Given the description of an element on the screen output the (x, y) to click on. 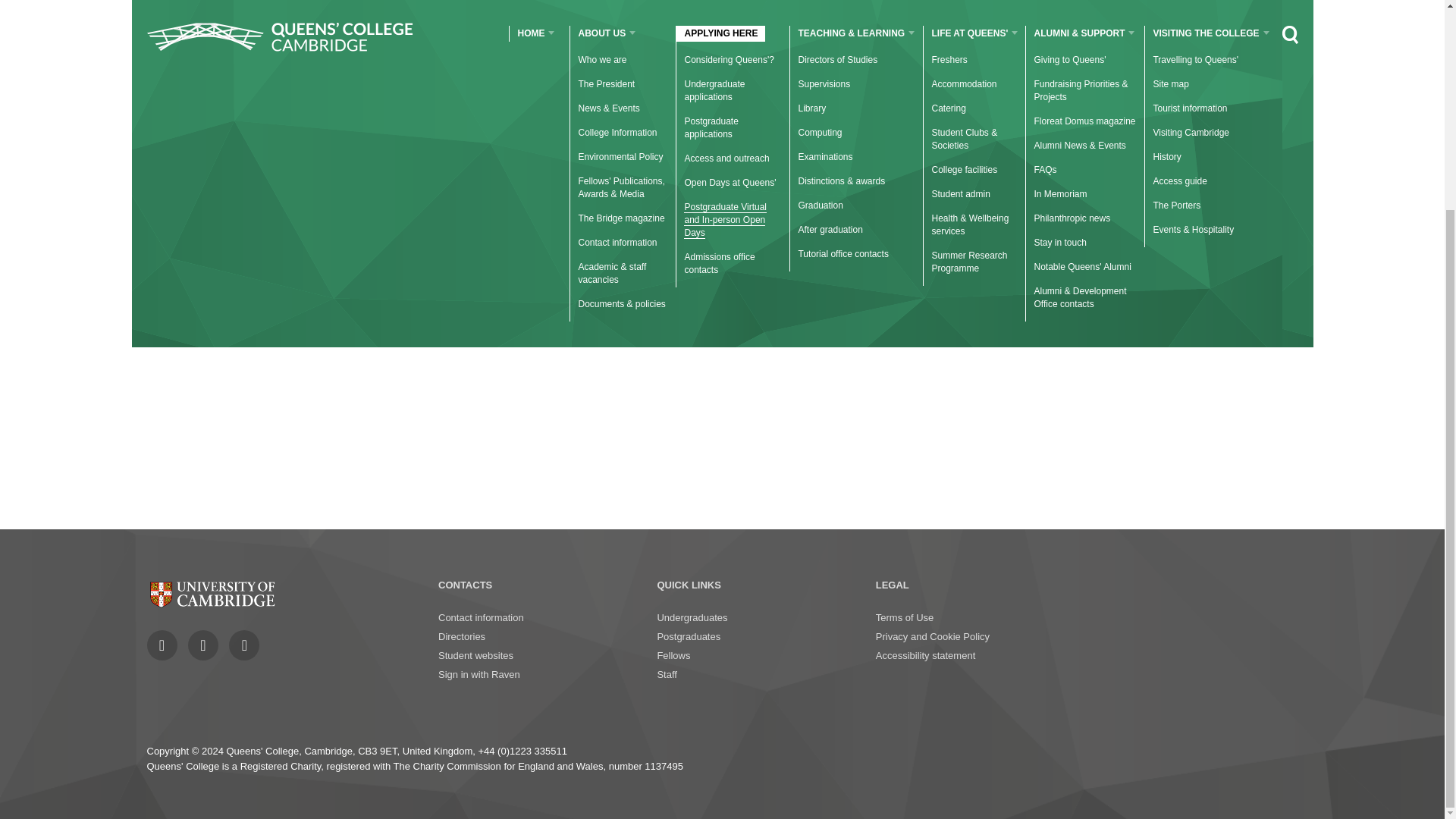
YouTube video player (335, 408)
Admissions office contacts (719, 2)
YouTube video player (710, 408)
